Given the description of an element on the screen output the (x, y) to click on. 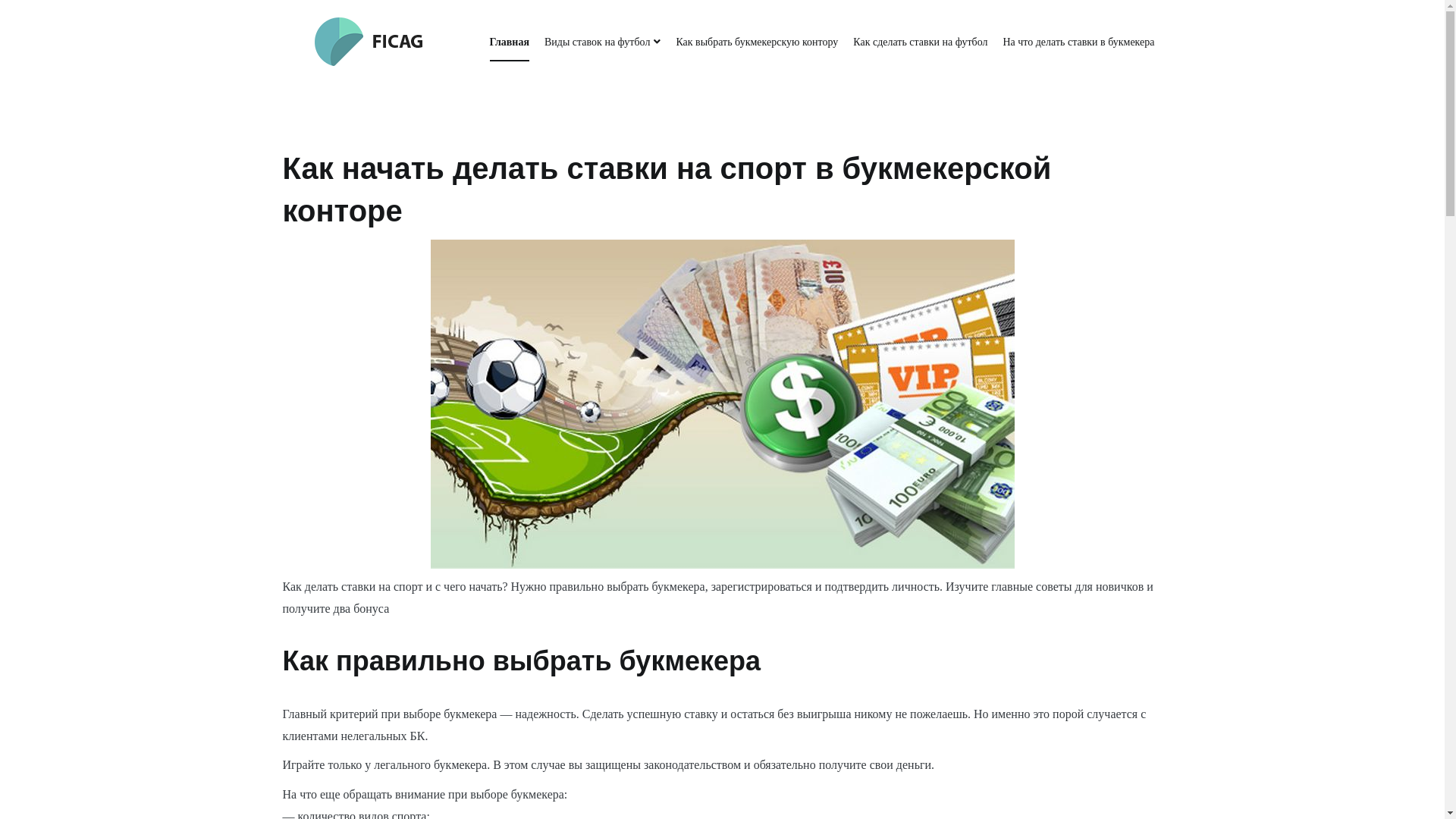
ficag.by Element type: text (312, 85)
